Given the description of an element on the screen output the (x, y) to click on. 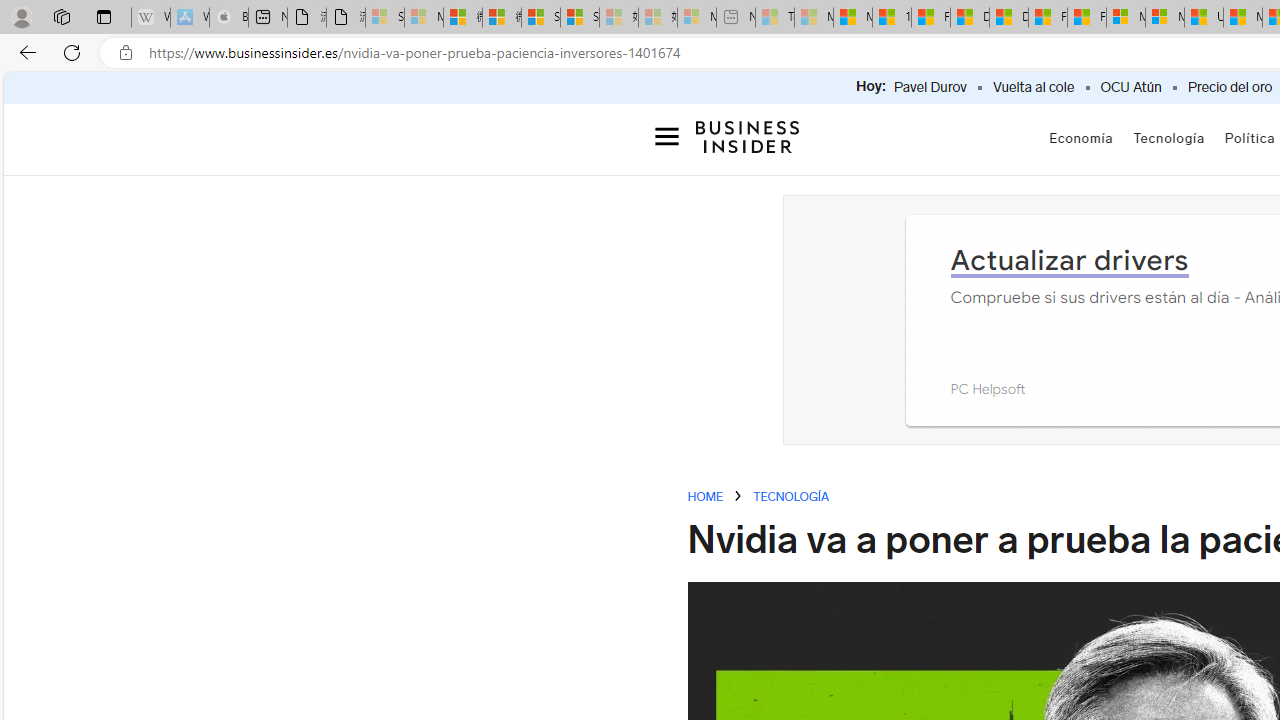
Pavel Durov (929, 88)
Logo BusinessInsider.es (748, 136)
